Given the description of an element on the screen output the (x, y) to click on. 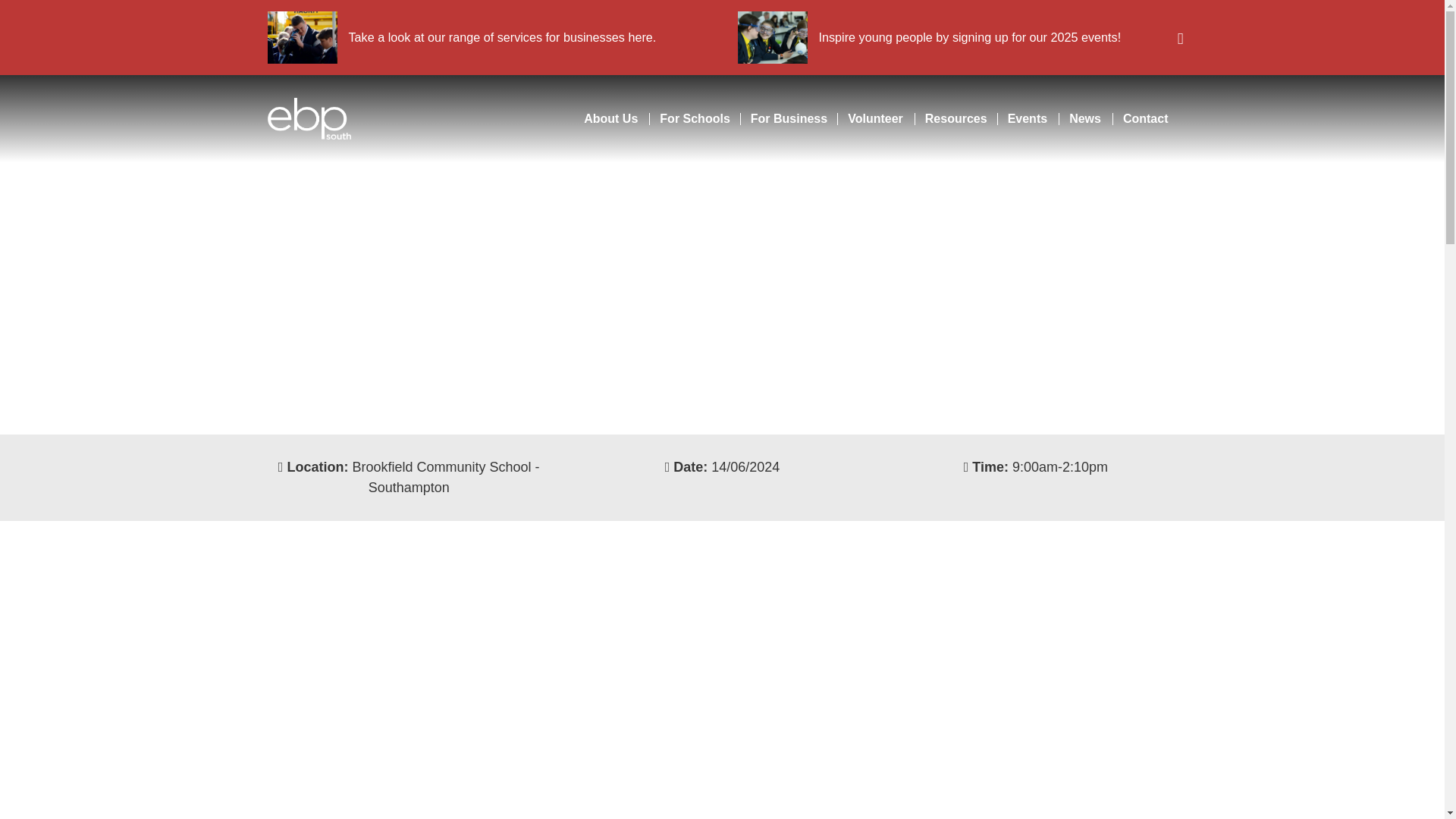
Volunteer (875, 119)
For Schools (693, 119)
Inspire young people by signing up for our 2025 events! (928, 37)
Take a look at our range of services for businesses here. (461, 37)
News (1084, 119)
Contact (1145, 119)
For Business (787, 119)
About Us (610, 119)
Events (1027, 119)
Resources (954, 119)
